Given the description of an element on the screen output the (x, y) to click on. 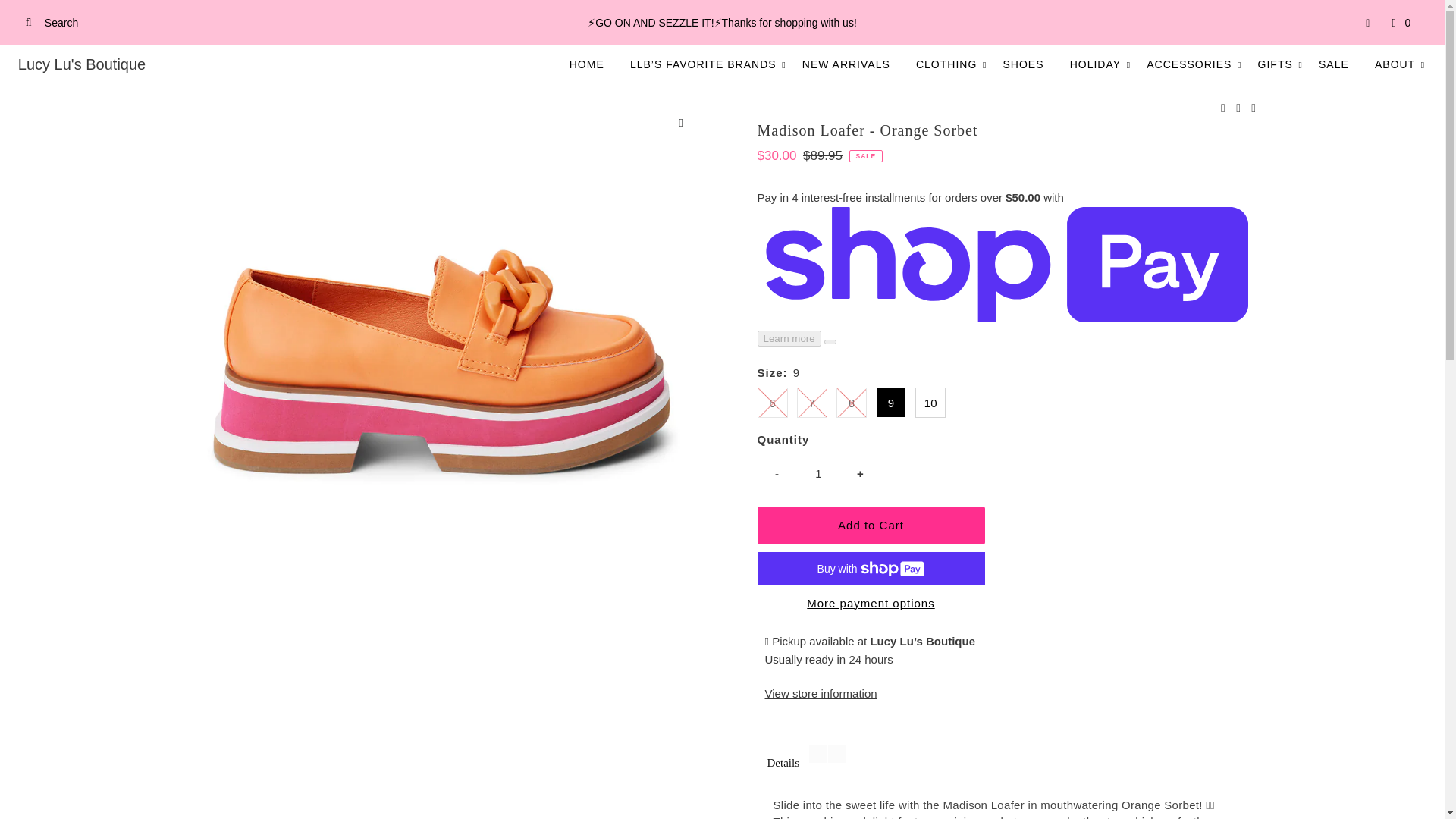
HOME (586, 64)
NEW ARRIVALS (845, 64)
Lucy Lu's Boutique (81, 64)
Add to Cart (870, 525)
CLOTHING (946, 64)
1 (818, 474)
  0 (1401, 22)
